Given the description of an element on the screen output the (x, y) to click on. 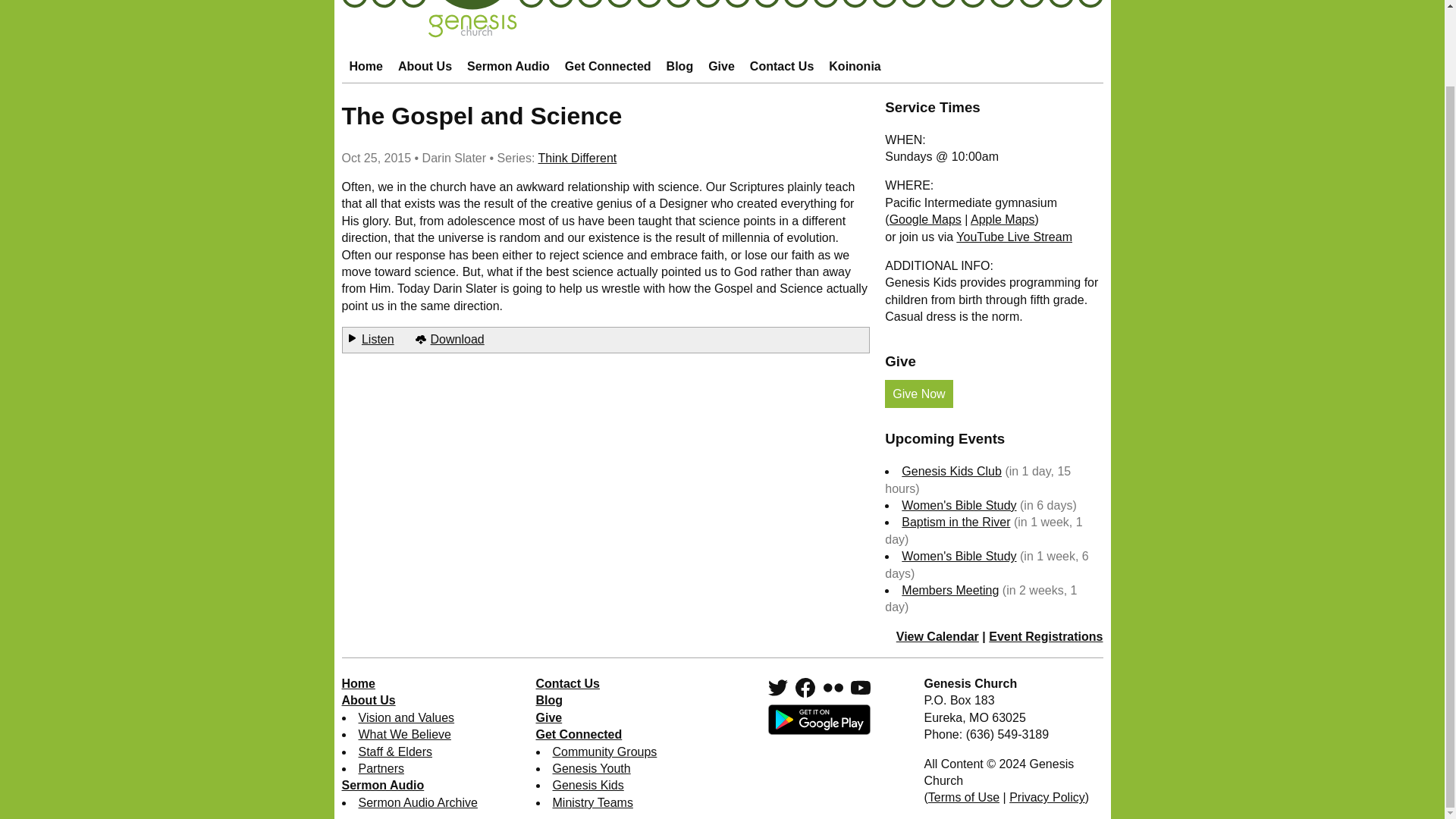
Members Meeting (949, 590)
Genesis Church - A Place for New Beginnings (721, 33)
Google Maps (924, 219)
Sermon Audio (508, 66)
Women's Bible Study (958, 504)
Contact Us (781, 66)
Get Connected (607, 66)
Blog (680, 66)
About Us (424, 66)
Think Different (577, 157)
Give Now (918, 393)
Get Connected (607, 66)
Give (721, 66)
Apple Maps (1003, 219)
Give (721, 66)
